Given the description of an element on the screen output the (x, y) to click on. 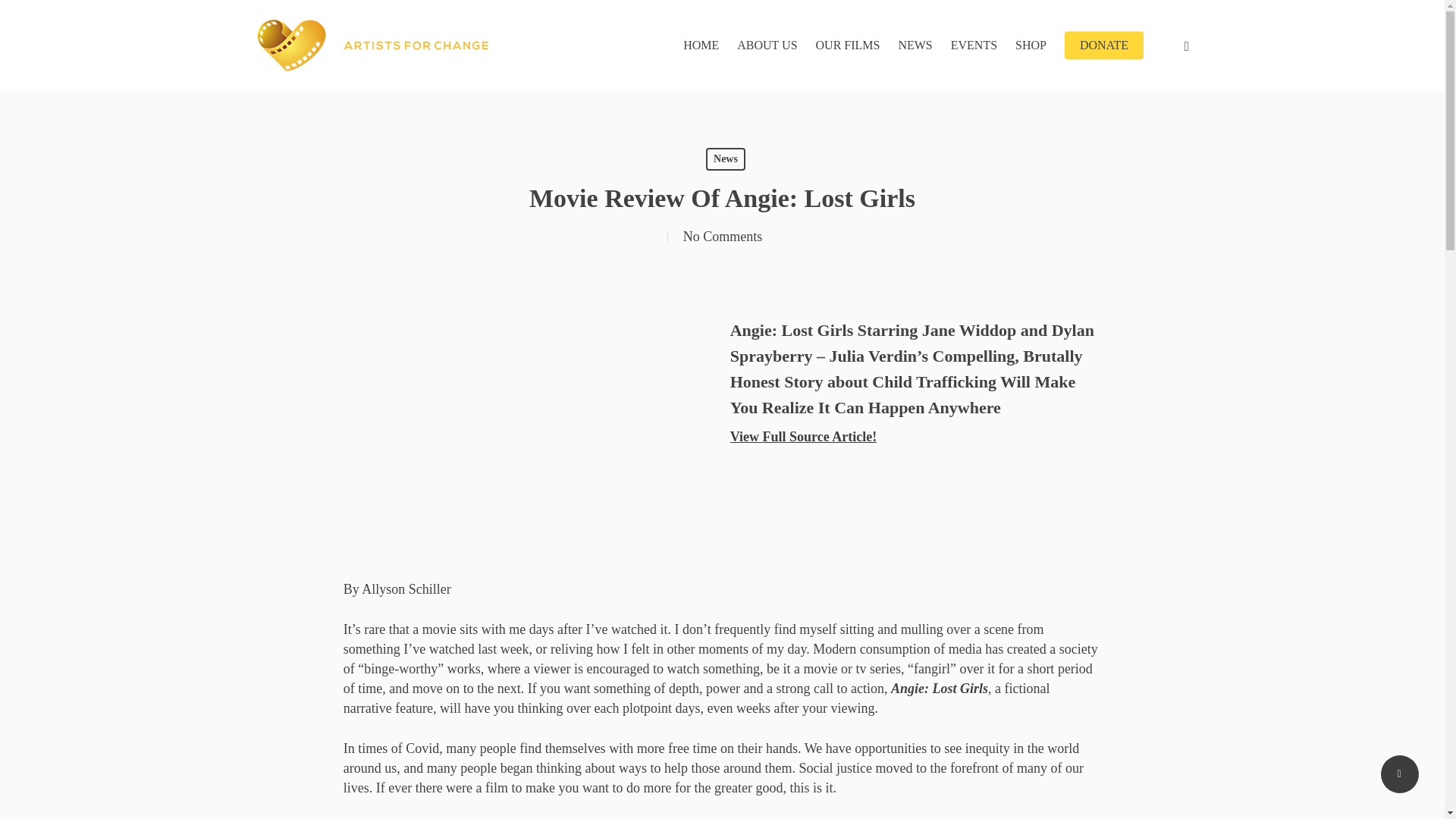
EVENTS (973, 45)
View Full Source Article! (803, 436)
HOME (700, 45)
ABOUT US (766, 45)
SHOP (1030, 45)
NEWS (914, 45)
No Comments (722, 236)
DONATE (1103, 45)
OUR FILMS (847, 45)
News (725, 159)
